Given the description of an element on the screen output the (x, y) to click on. 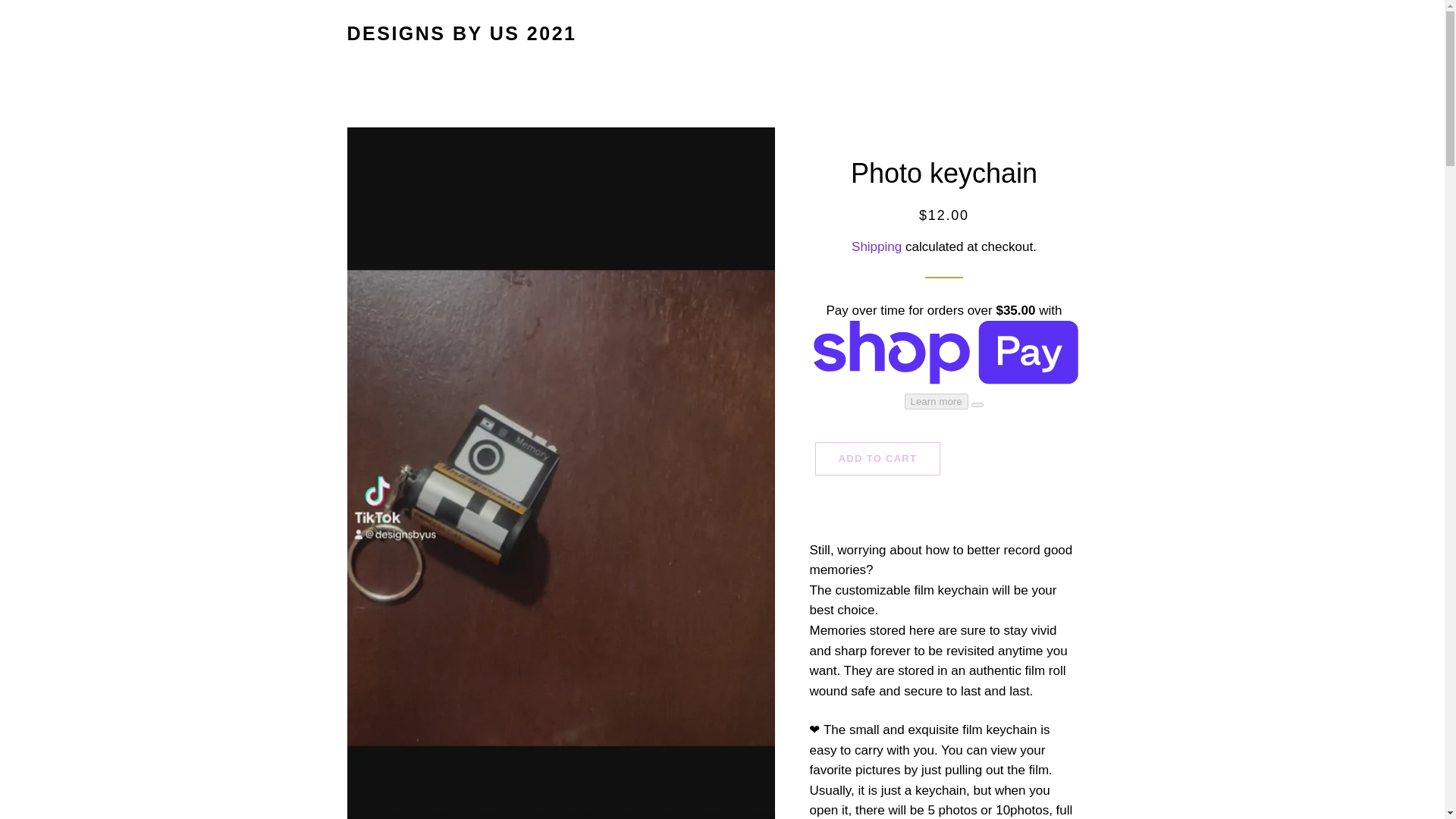
Shipping (876, 246)
ADD TO CART (877, 458)
DESIGNS BY US 2021 (461, 33)
